Given the description of an element on the screen output the (x, y) to click on. 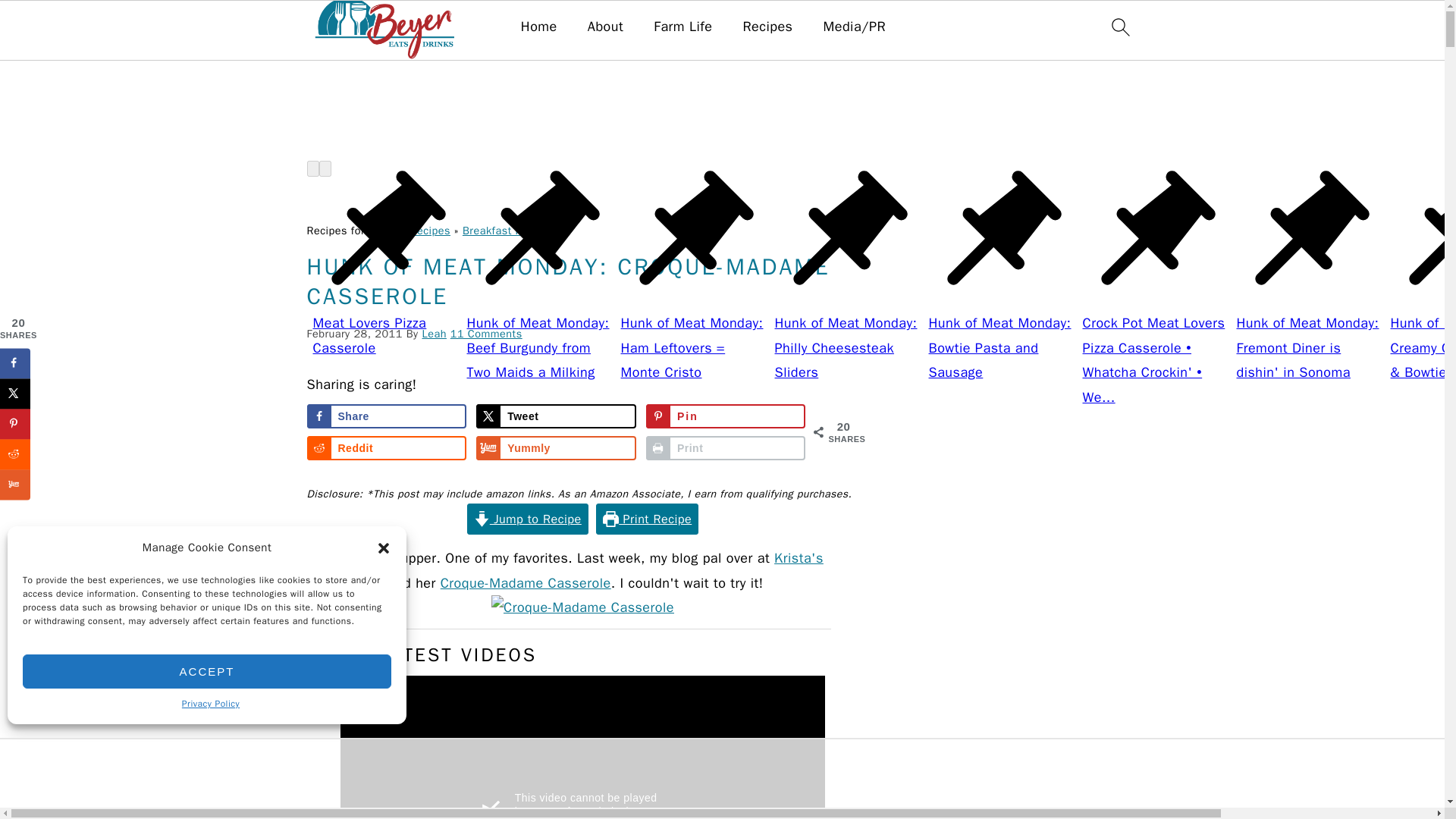
Share on Yummly (556, 447)
Print this webpage (726, 447)
Share on Reddit (385, 447)
Share on X (556, 416)
Share on Facebook (385, 416)
search icon (1119, 26)
Privacy Policy (211, 704)
ACCEPT (207, 671)
Save to Pinterest (726, 416)
